Given the description of an element on the screen output the (x, y) to click on. 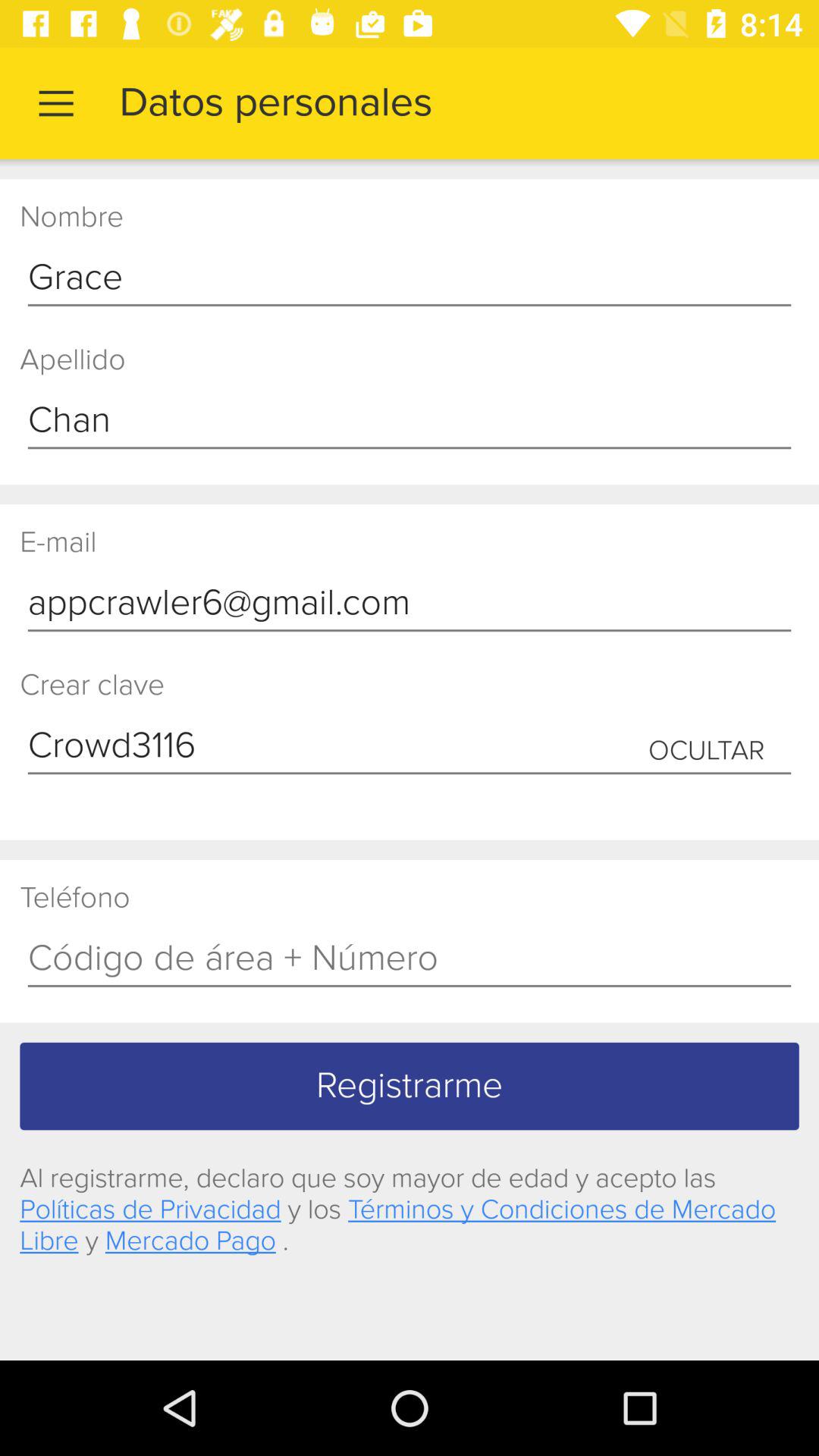
add telephone number (409, 959)
